Given the description of an element on the screen output the (x, y) to click on. 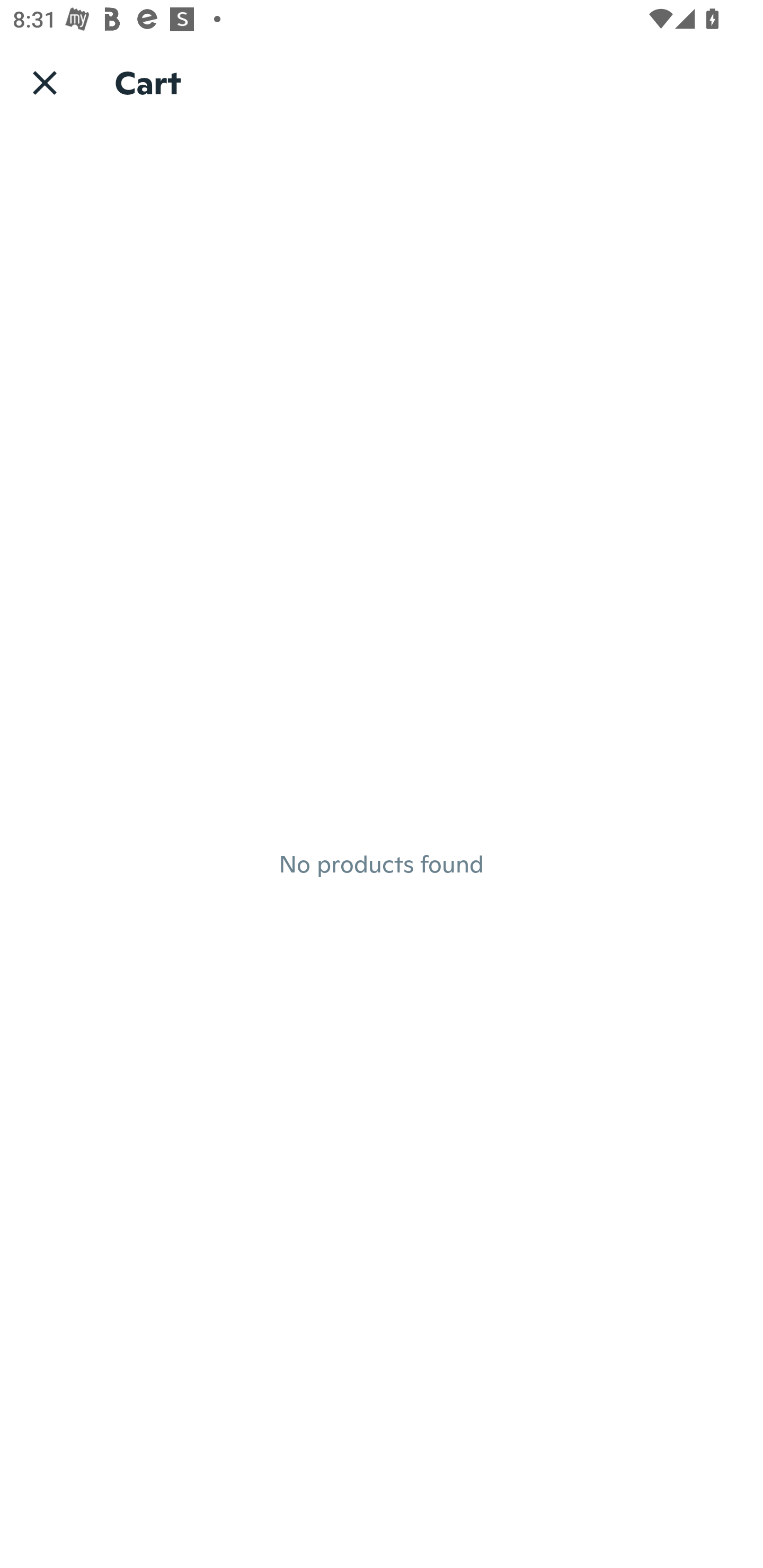
Navigate up (44, 82)
